Given the description of an element on the screen output the (x, y) to click on. 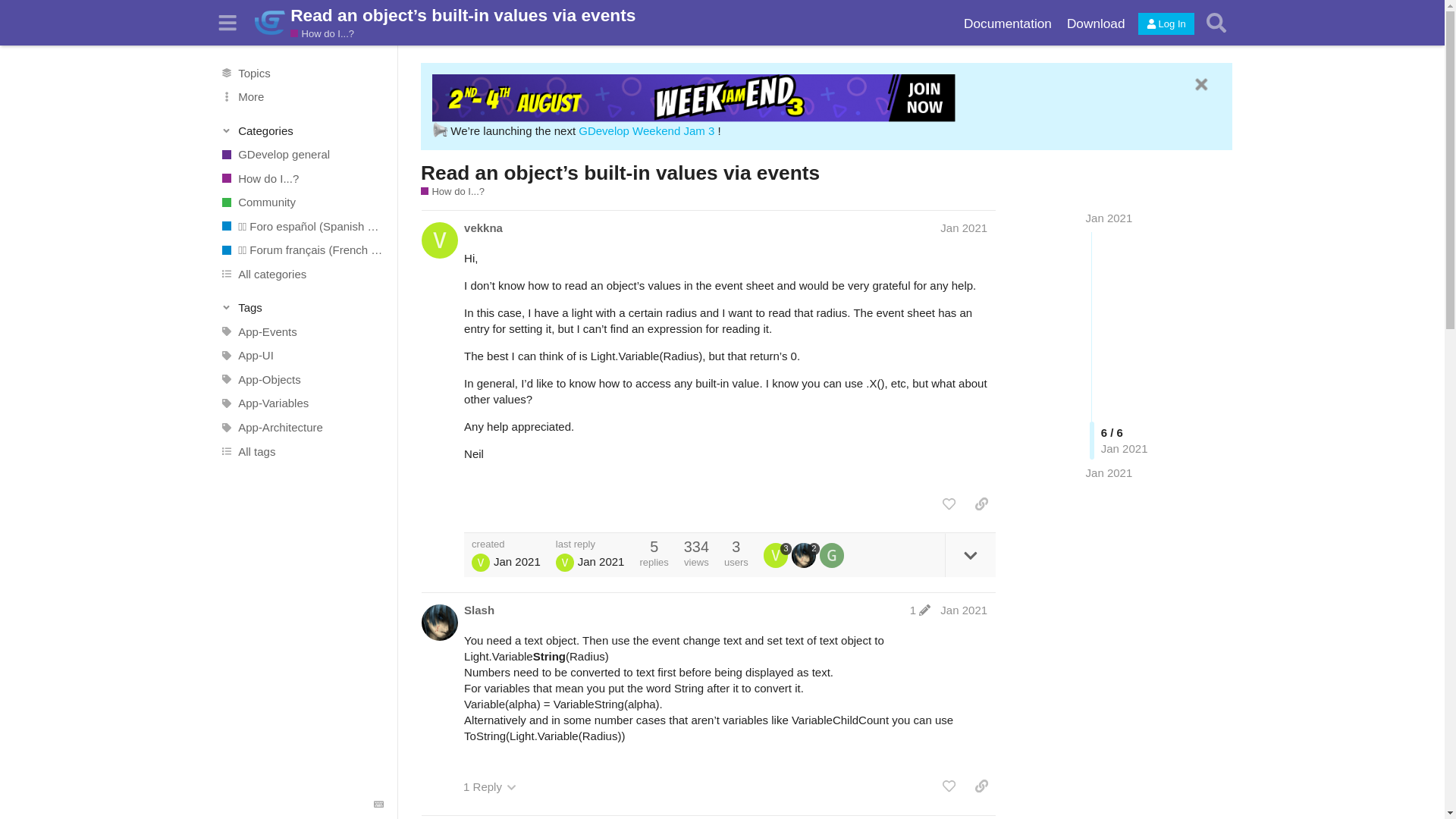
Sidebar (227, 22)
Toggle section (301, 130)
Community (301, 202)
App-Variables (301, 403)
Documentation (1007, 23)
Jan 2021 (1109, 217)
App-UI (301, 355)
How do I...? (452, 192)
Toggle section (301, 307)
Jan 2021 (1109, 472)
How do I...? (321, 33)
Jan 2021 (963, 227)
How do I...? (301, 178)
